Given the description of an element on the screen output the (x, y) to click on. 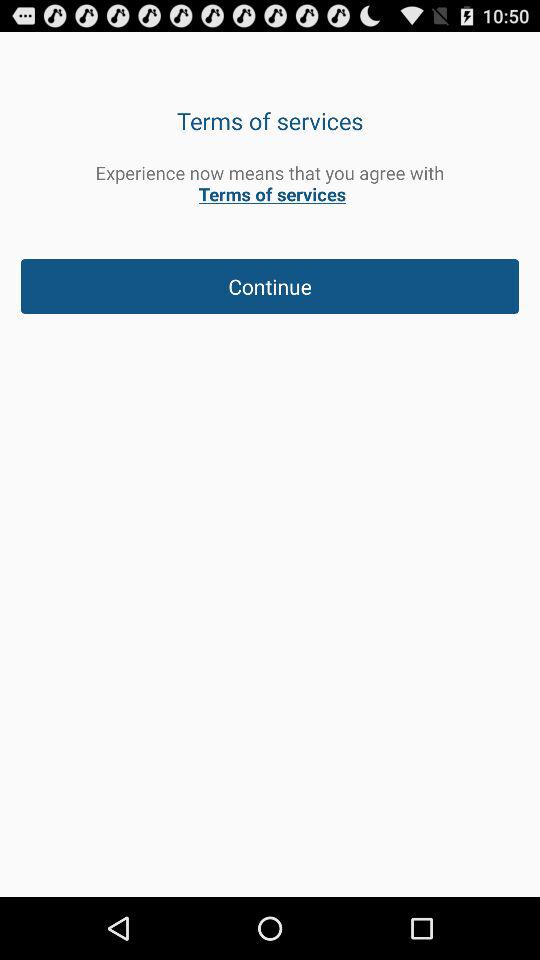
turn off the experience now means app (270, 183)
